Given the description of an element on the screen output the (x, y) to click on. 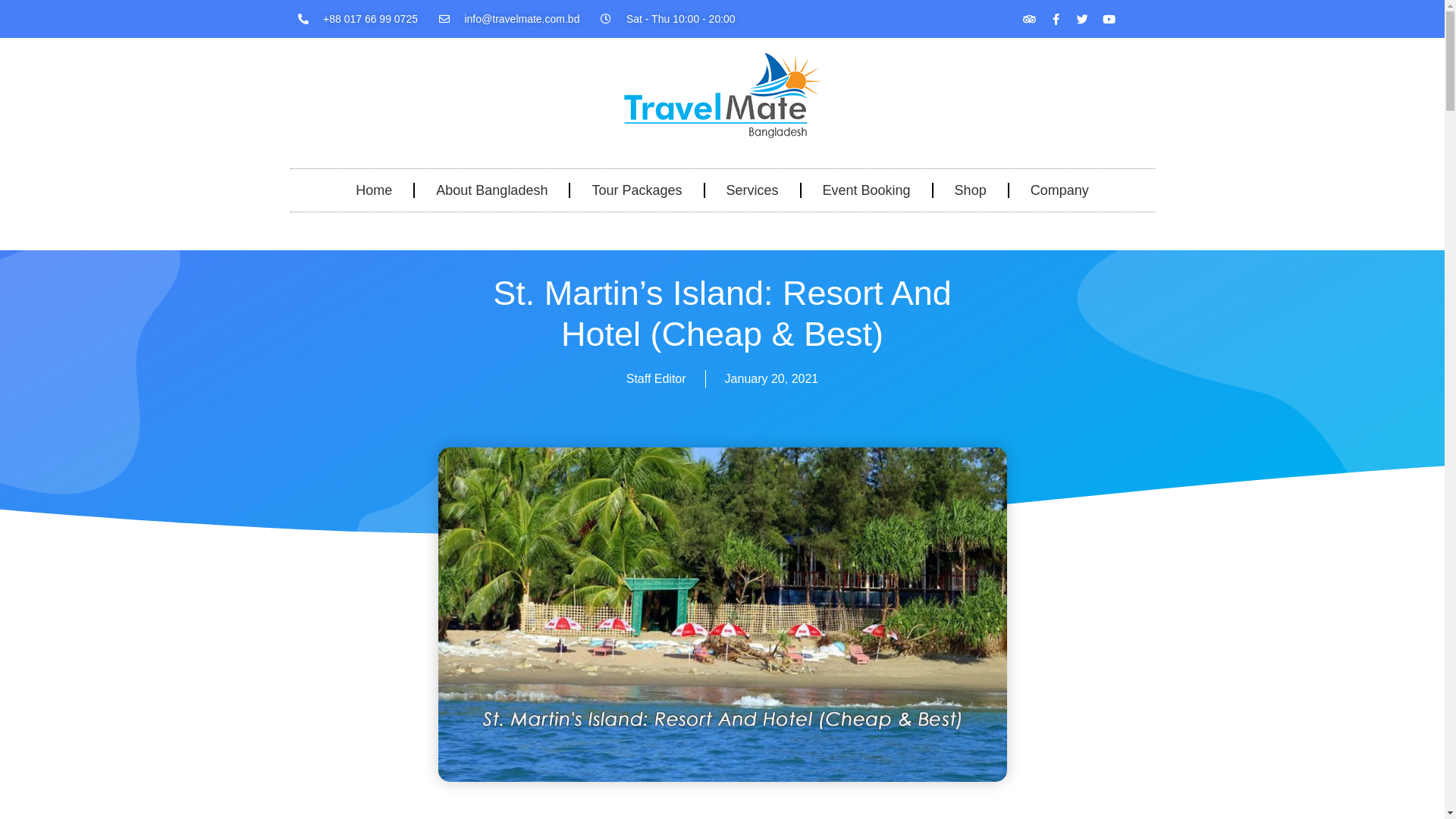
About Bangladesh Element type: text (491, 190)
Home Element type: text (373, 190)
Tour Packages Element type: text (636, 190)
Company Element type: text (1059, 190)
Staff Editor Element type: text (656, 379)
Shop Element type: text (970, 190)
Services Element type: text (752, 190)
Event Booking Element type: text (866, 190)
January 20, 2021 Element type: text (771, 379)
